Given the description of an element on the screen output the (x, y) to click on. 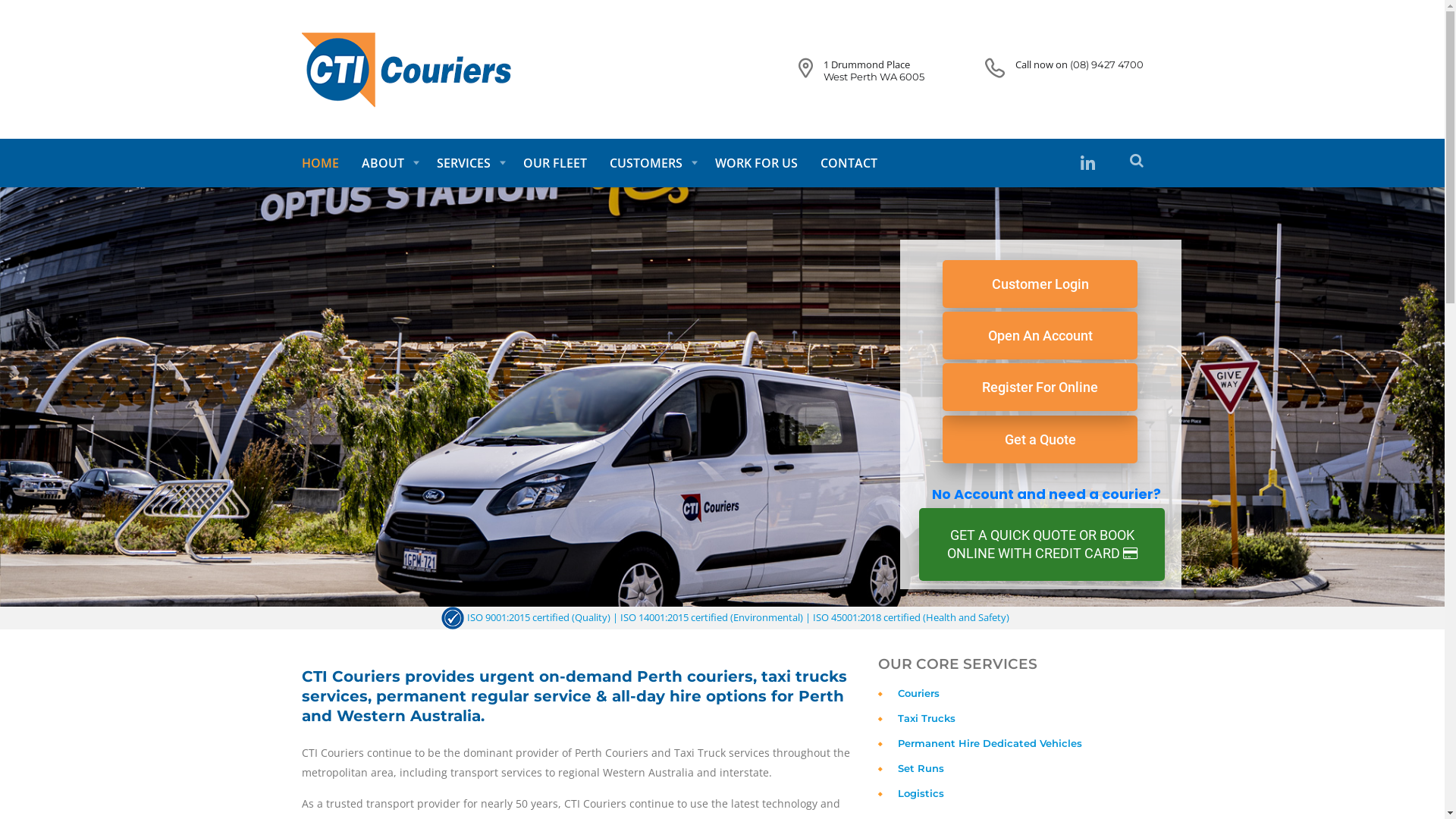
  Element type: text (1089, 163)
ABOUT Element type: text (387, 162)
Register For Online Element type: text (1039, 387)
CONTACT Element type: text (848, 162)
HOME Element type: text (325, 162)
GET A QUICK QUOTE OR BOOK
ONLINE WITH CREDIT CARD Element type: text (1041, 544)
Taxi Trucks Element type: text (926, 718)
WORK FOR US Element type: text (756, 162)
Get a Quote Element type: text (1039, 439)
Customer Login Element type: text (1039, 283)
OUR FLEET Element type: text (554, 162)
Open An Account Element type: text (1039, 335)
SERVICES Element type: text (467, 162)
Permanent Hire Dedicated Vehicles Element type: text (989, 743)
Set Runs Element type: text (920, 768)
Logistics Element type: text (920, 793)
Couriers Element type: text (918, 693)
CUSTOMERS Element type: text (649, 162)
